Given the description of an element on the screen output the (x, y) to click on. 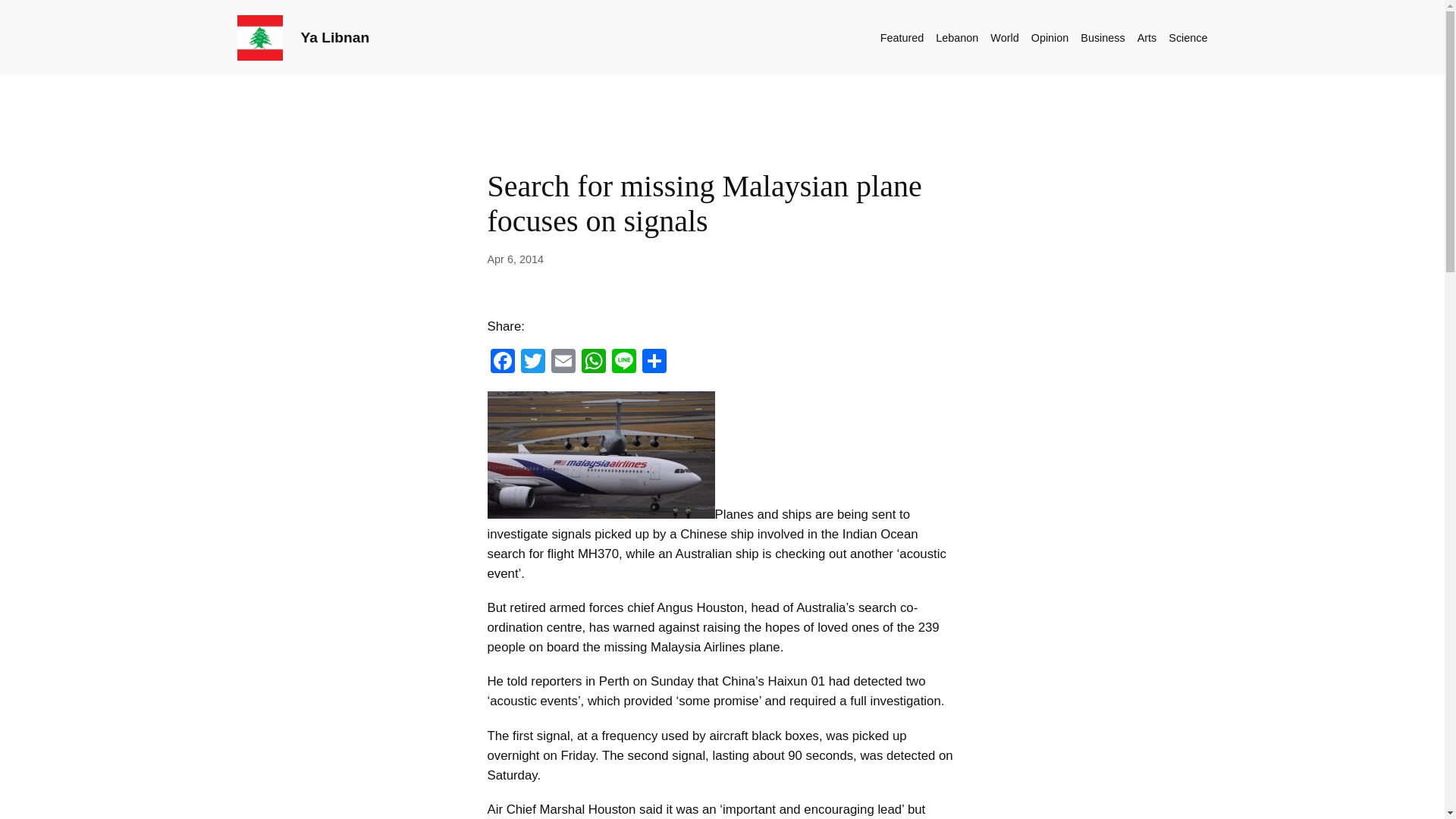
Ya Libnan (334, 37)
Business (1102, 37)
Line (623, 362)
Opinion (1049, 37)
Featured (902, 37)
WhatsApp (593, 362)
Science (1188, 37)
Arts (1147, 37)
Email (562, 362)
Facebook (501, 362)
Facebook (501, 362)
Twitter (531, 362)
Line (623, 362)
WhatsApp (593, 362)
Apr 6, 2014 (514, 259)
